Given the description of an element on the screen output the (x, y) to click on. 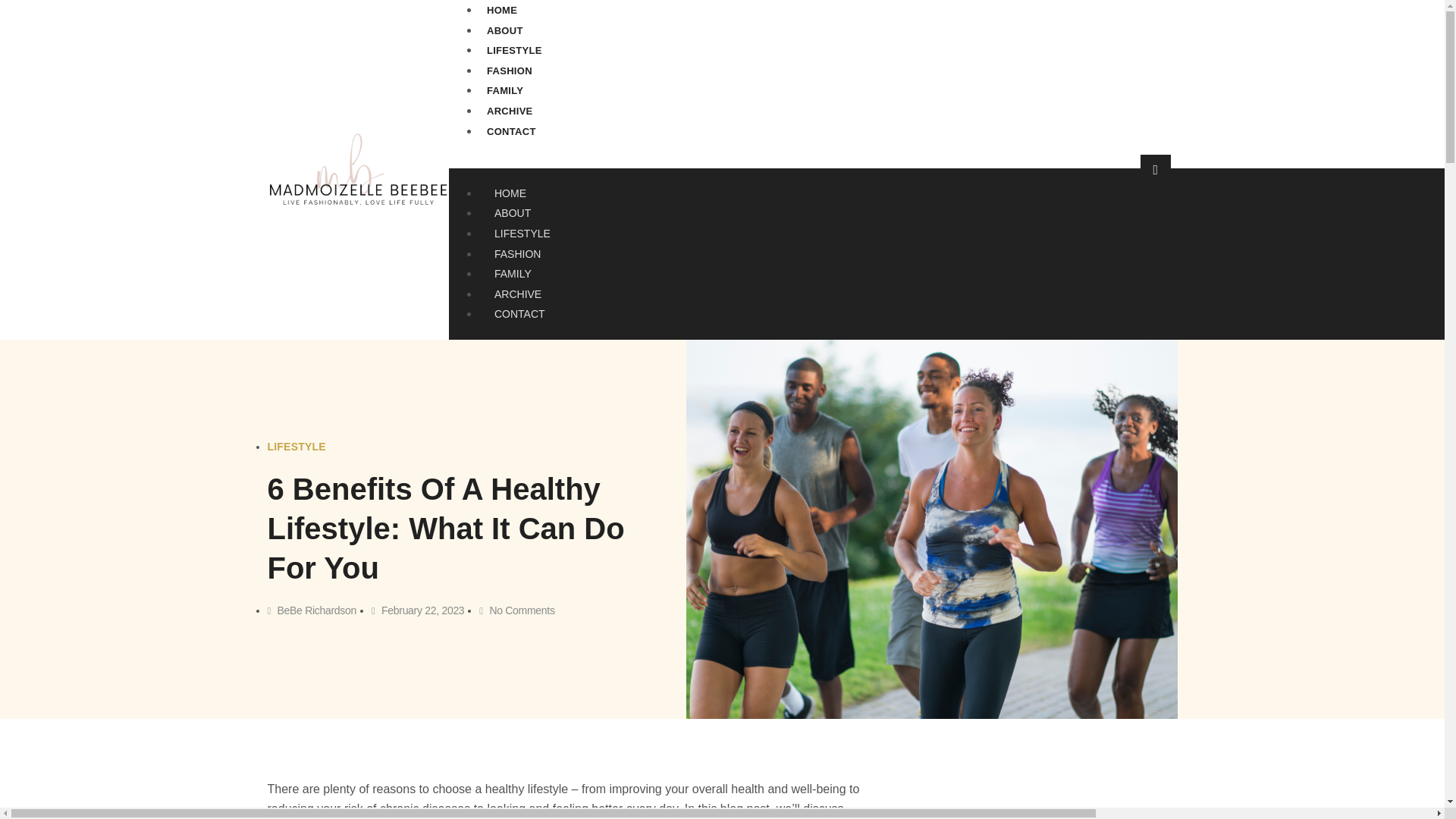
BeBe Richardson (311, 609)
ARCHIVE (517, 293)
LIFESTYLE (522, 233)
FASHION (517, 253)
ABOUT (505, 30)
LIFESTYLE (514, 50)
ARCHIVE (509, 111)
CONTACT (511, 131)
ABOUT (512, 212)
FAMILY (513, 273)
FASHION (509, 70)
LIFESTYLE (295, 446)
CONTACT (519, 313)
No Comments (516, 609)
FAMILY (505, 90)
